Given the description of an element on the screen output the (x, y) to click on. 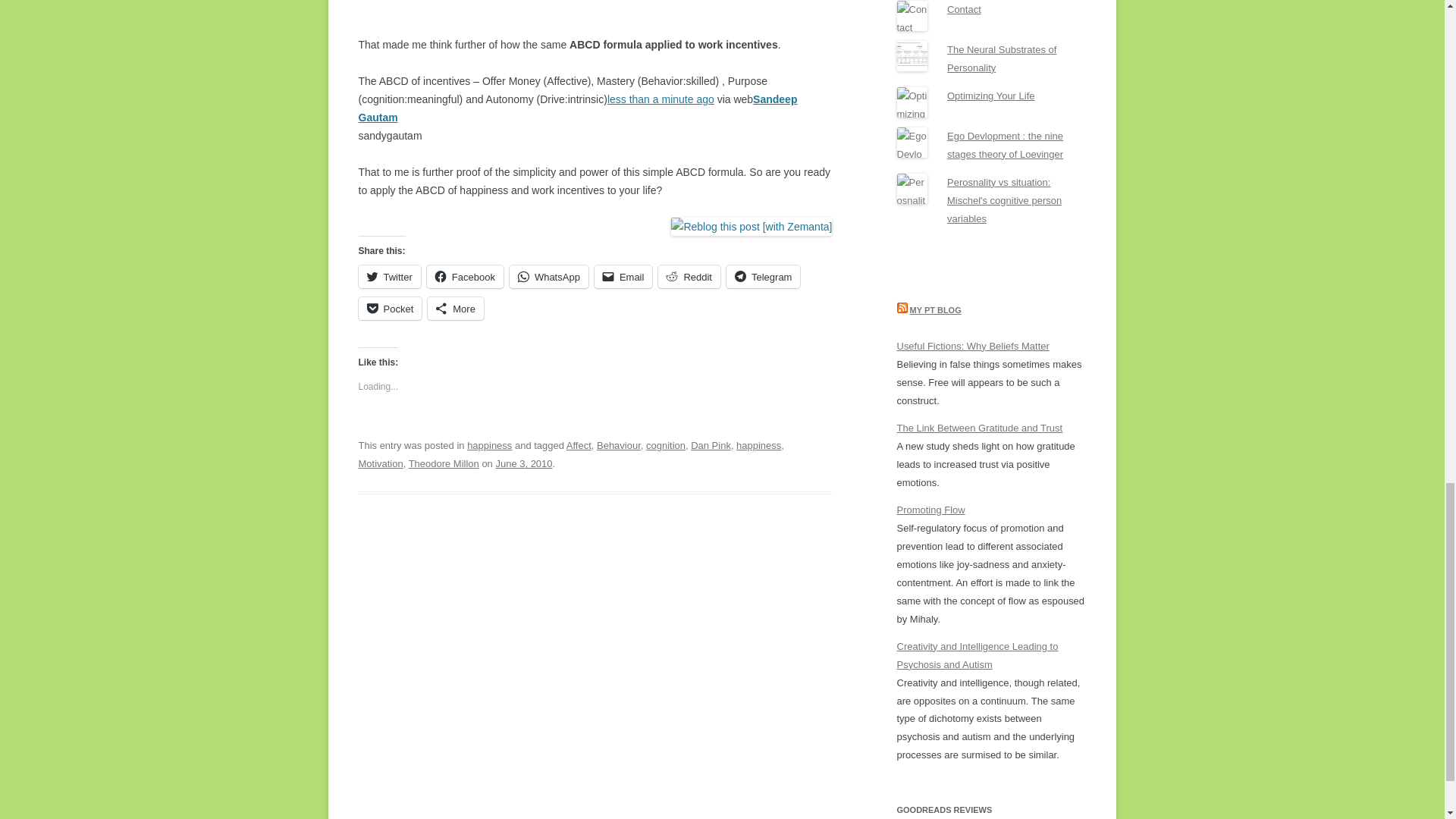
WhatsApp (548, 276)
Pocket (390, 308)
Facebook (464, 276)
Sandeep Gautam (577, 108)
Twitter (389, 276)
Click to share on Facebook (464, 276)
Click to email a link to a friend (623, 276)
Click to share on WhatsApp (548, 276)
Telegram (762, 276)
Click to share on Twitter (389, 276)
